Given the description of an element on the screen output the (x, y) to click on. 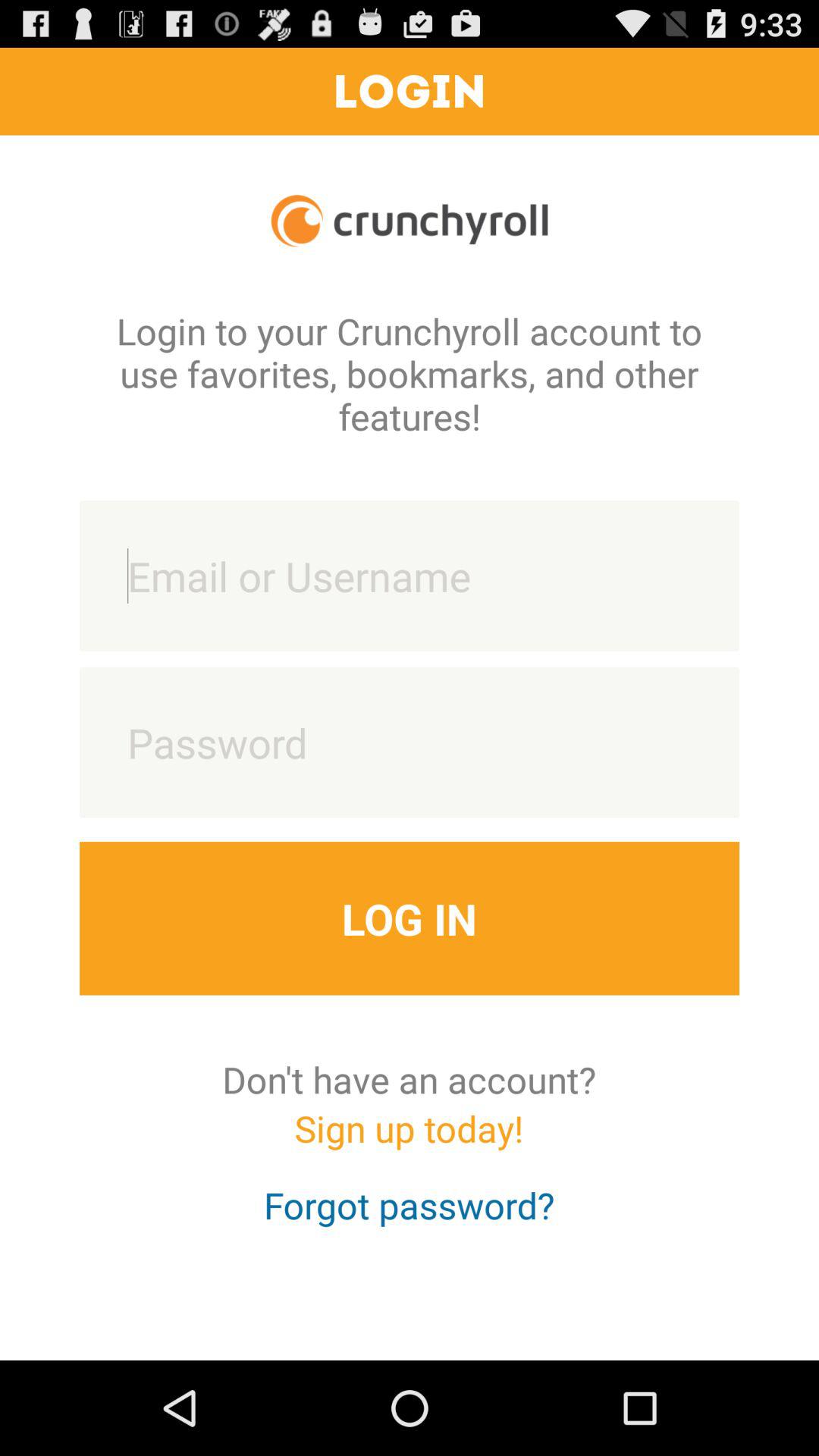
jump to the don t have (409, 1079)
